Given the description of an element on the screen output the (x, y) to click on. 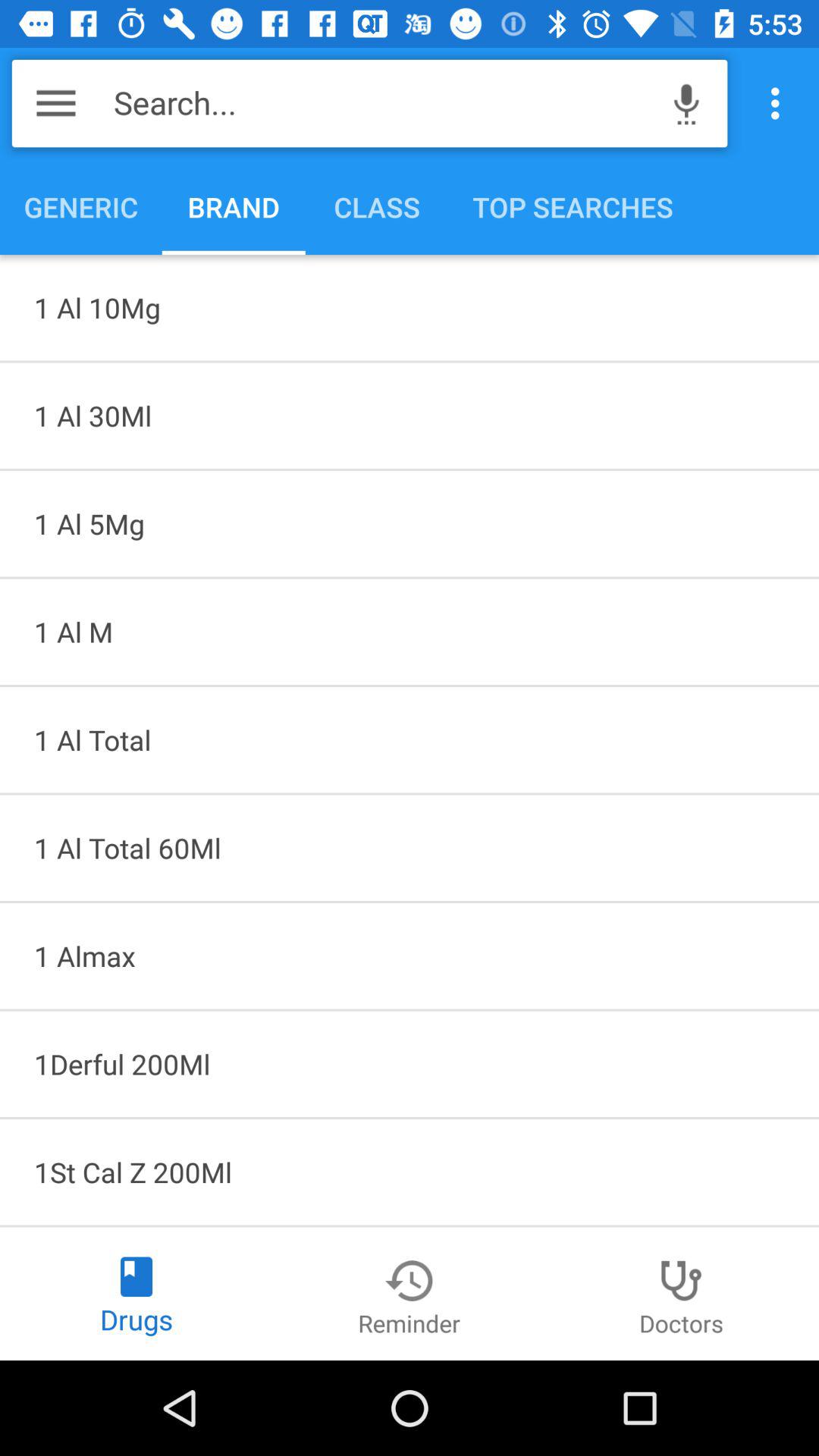
swipe to 1 almax item (409, 955)
